Given the description of an element on the screen output the (x, y) to click on. 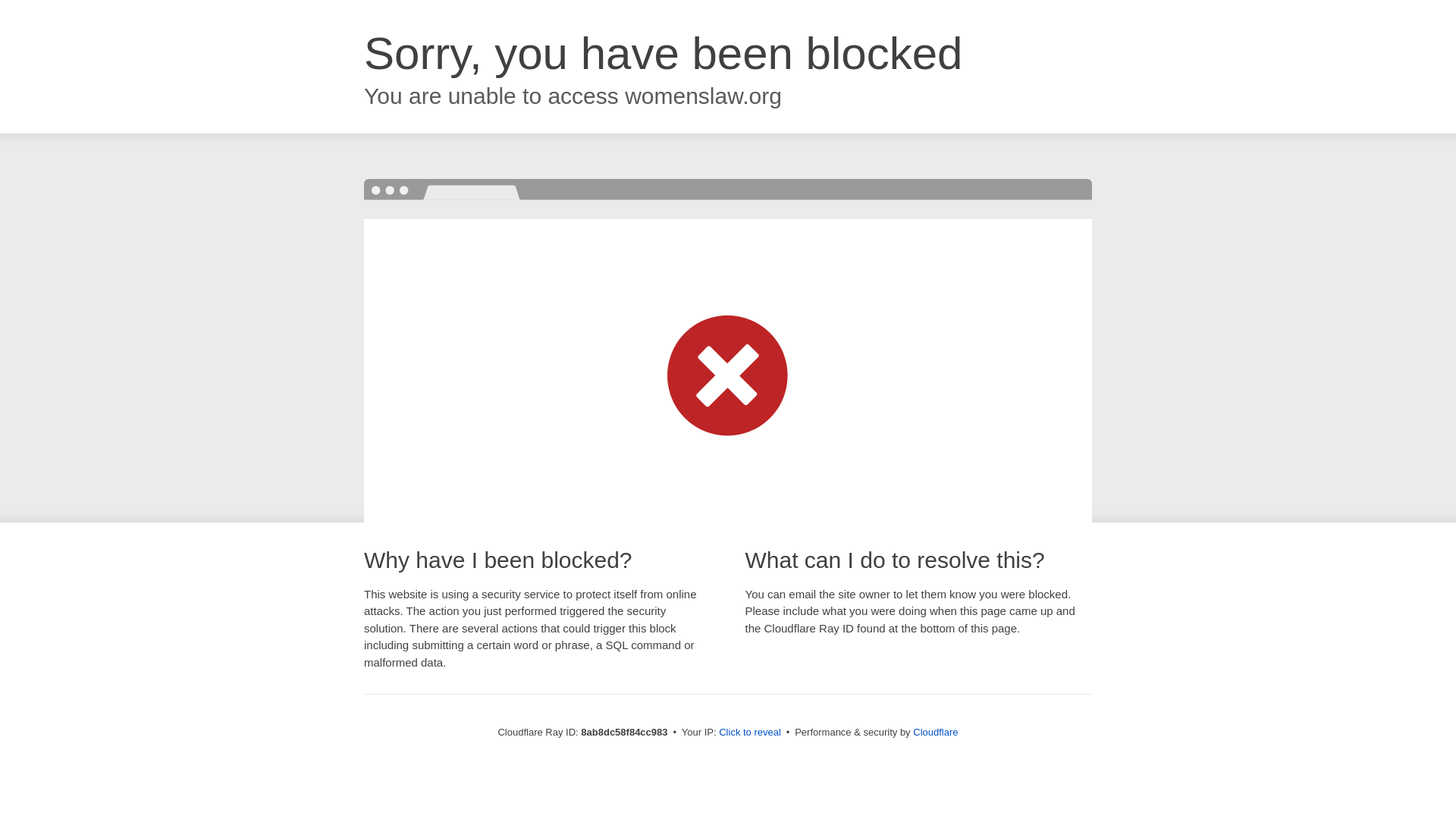
Click to reveal (749, 732)
Cloudflare (935, 731)
